Given the description of an element on the screen output the (x, y) to click on. 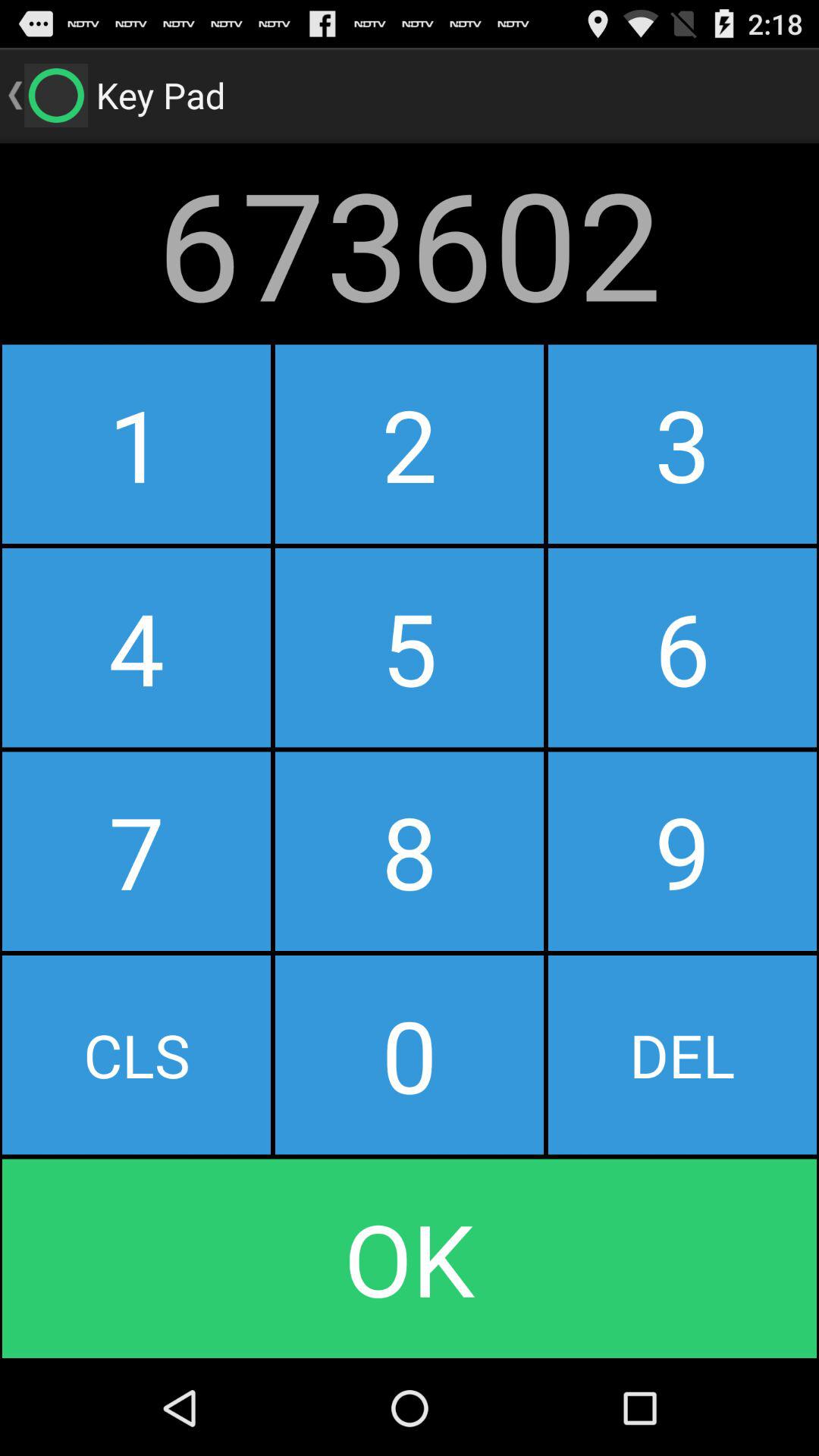
open the button at the bottom right corner (682, 1054)
